Given the description of an element on the screen output the (x, y) to click on. 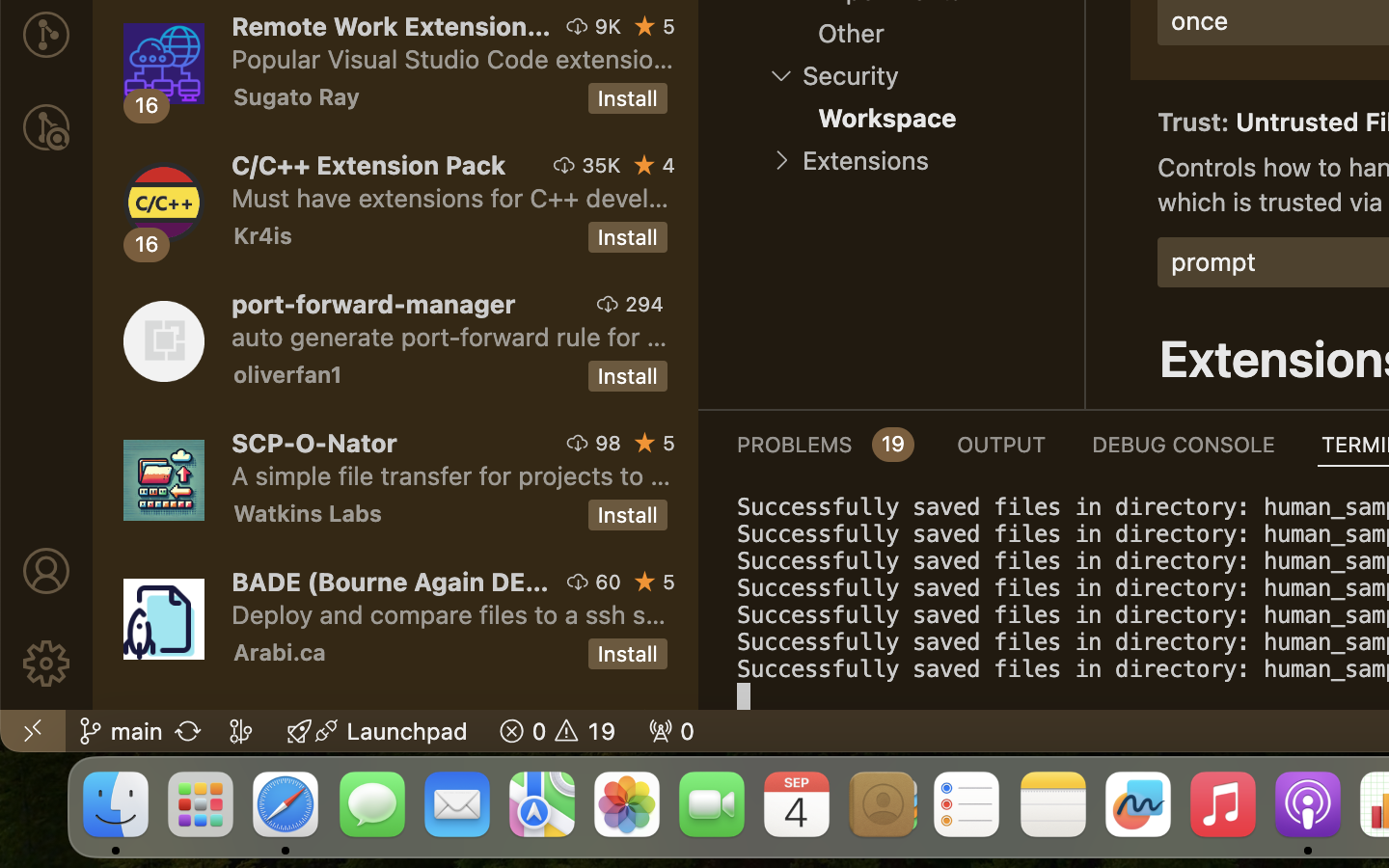
 Element type: AXGroup (46, 663)
16 Element type: AXStaticText (147, 243)
Remote Work Extension Pack Element type: AXStaticText (391, 25)
BADE (Bourne Again DEploy) Element type: AXStaticText (390, 581)
Kr4is Element type: AXStaticText (263, 234)
